Given the description of an element on the screen output the (x, y) to click on. 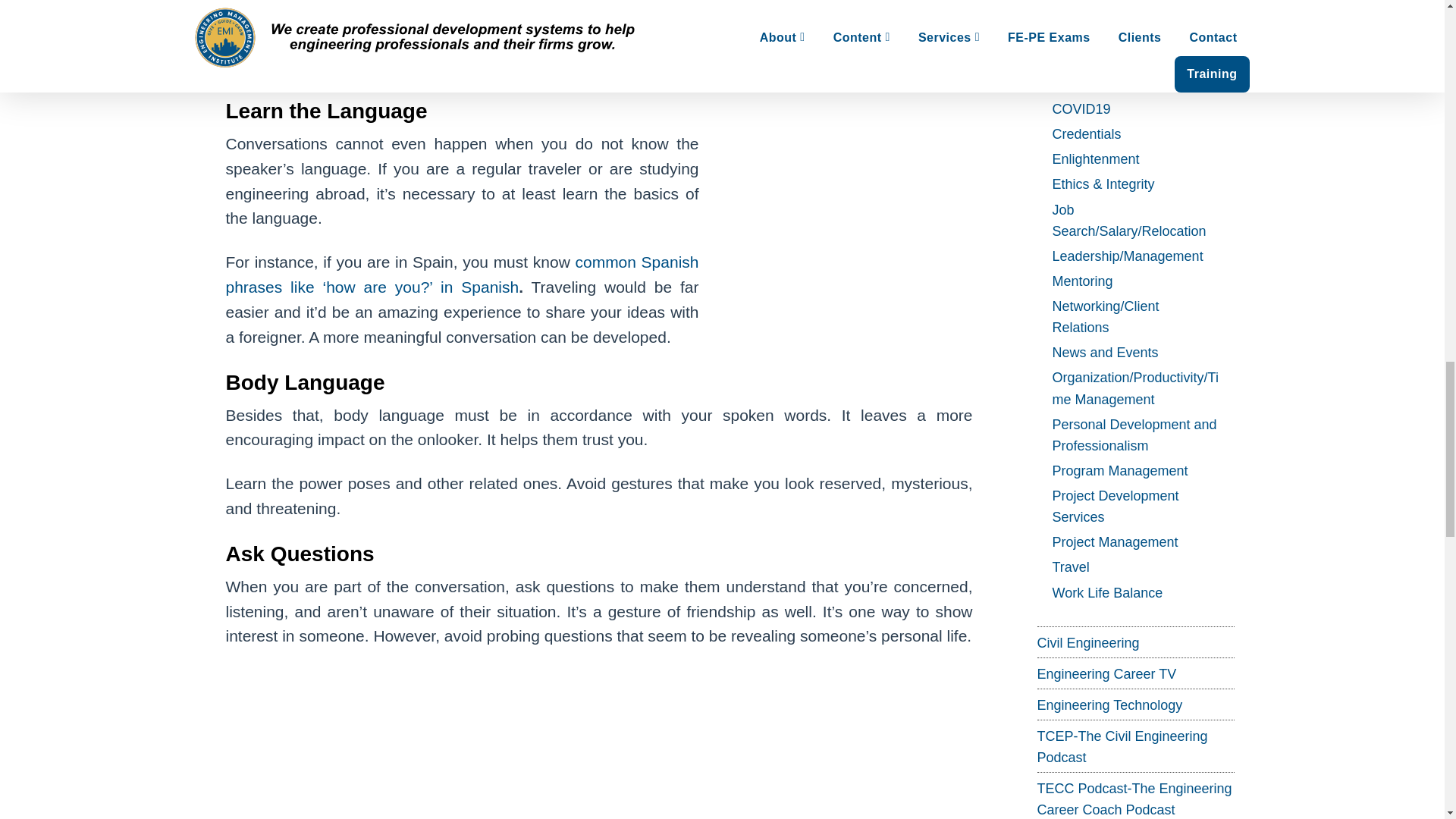
Meaningful Conversations (598, 743)
